Given the description of an element on the screen output the (x, y) to click on. 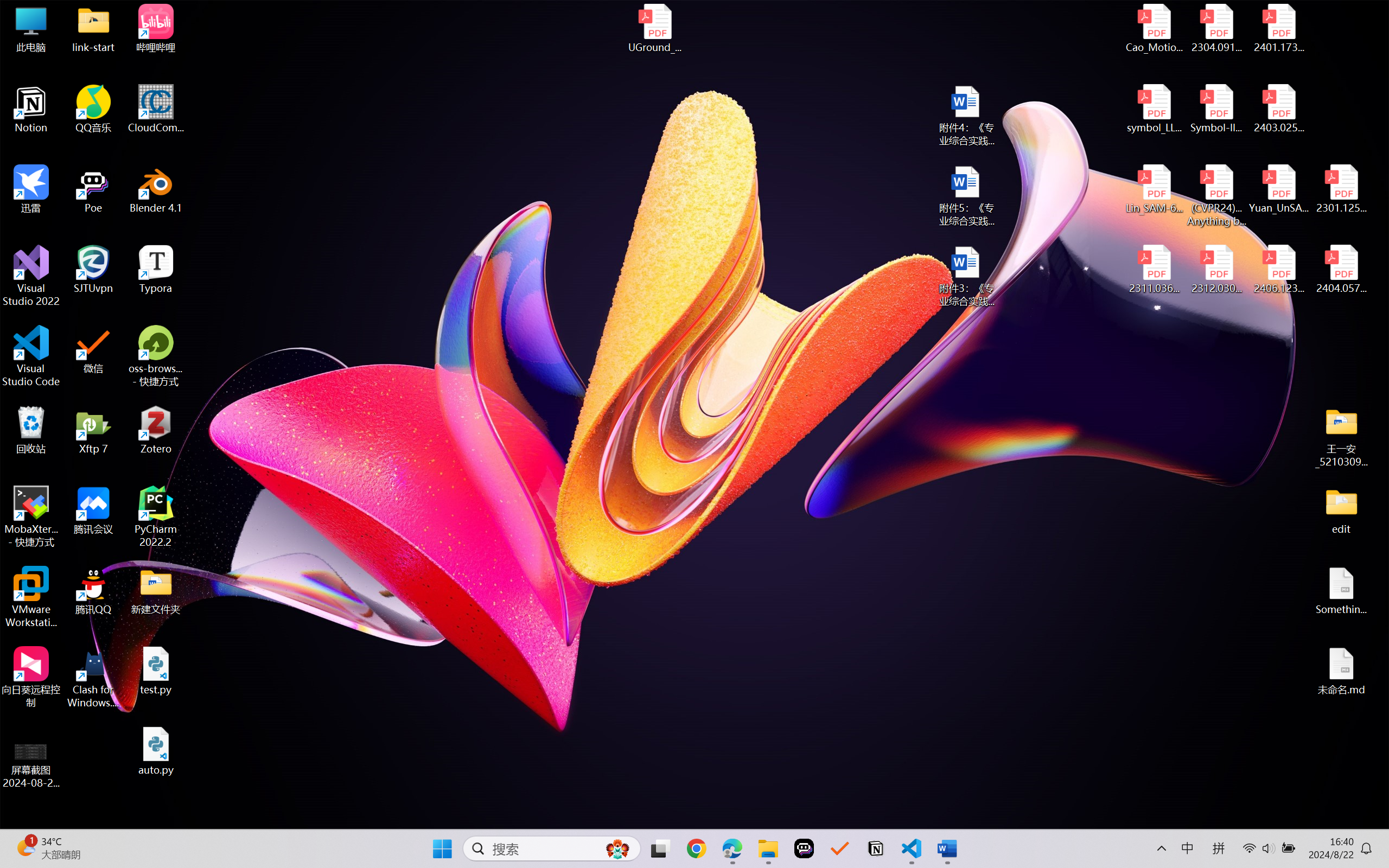
2312.03032v2.pdf (1216, 269)
Blender 4.1 (156, 189)
Google Chrome (696, 848)
2304.09121v3.pdf (1216, 28)
2404.05719v1.pdf (1340, 269)
Poe (804, 848)
2301.12597v3.pdf (1340, 189)
